Given the description of an element on the screen output the (x, y) to click on. 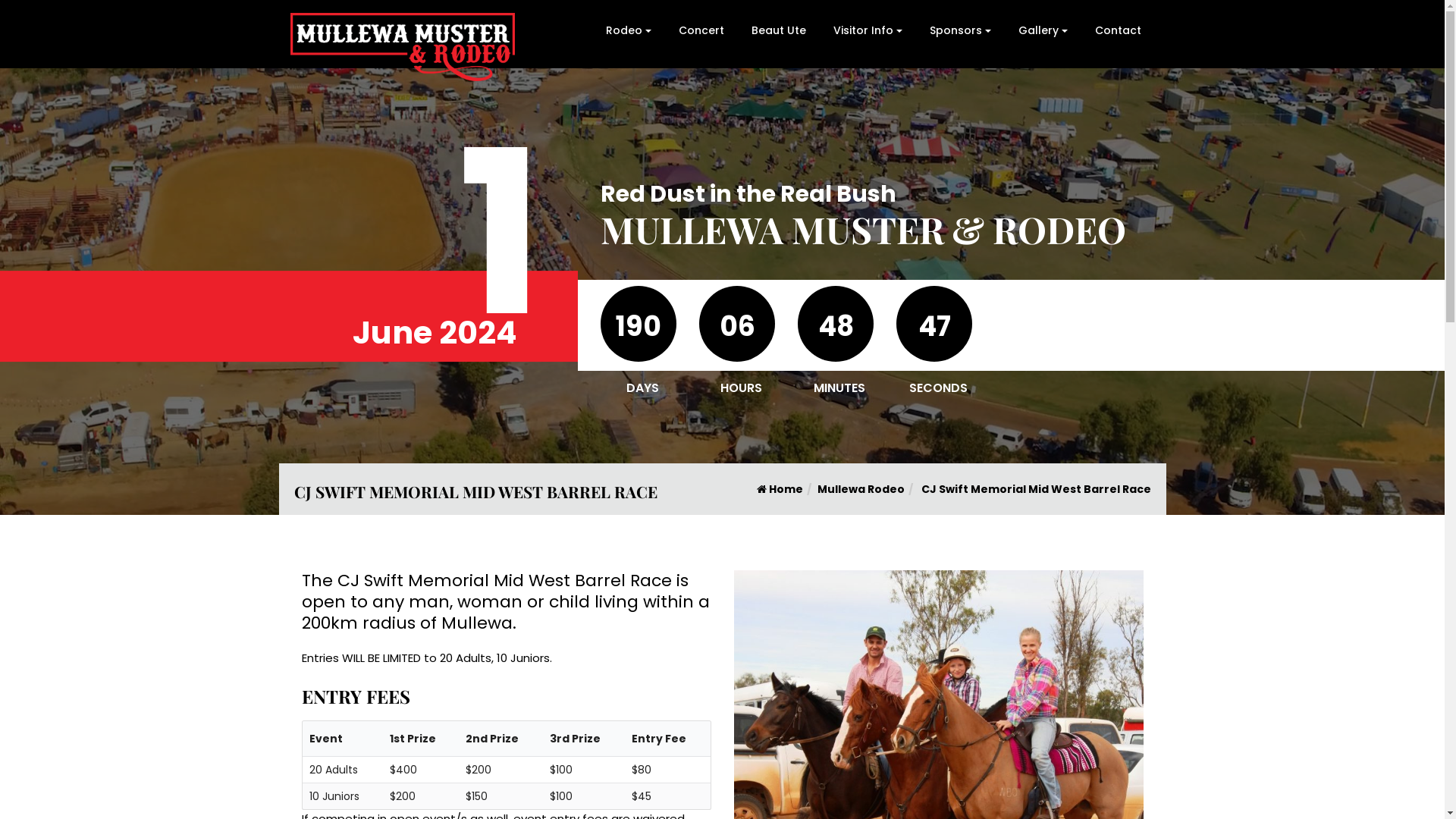
Gallery Element type: text (1042, 30)
Home Element type: text (779, 488)
Rodeo Element type: text (627, 30)
Contact Element type: text (1117, 30)
Visitor Info Element type: text (867, 30)
Beaut Ute Element type: text (778, 30)
Mullewa Rodeo Element type: text (860, 488)
Concert Element type: text (700, 30)
Sponsors Element type: text (960, 30)
